Given the description of an element on the screen output the (x, y) to click on. 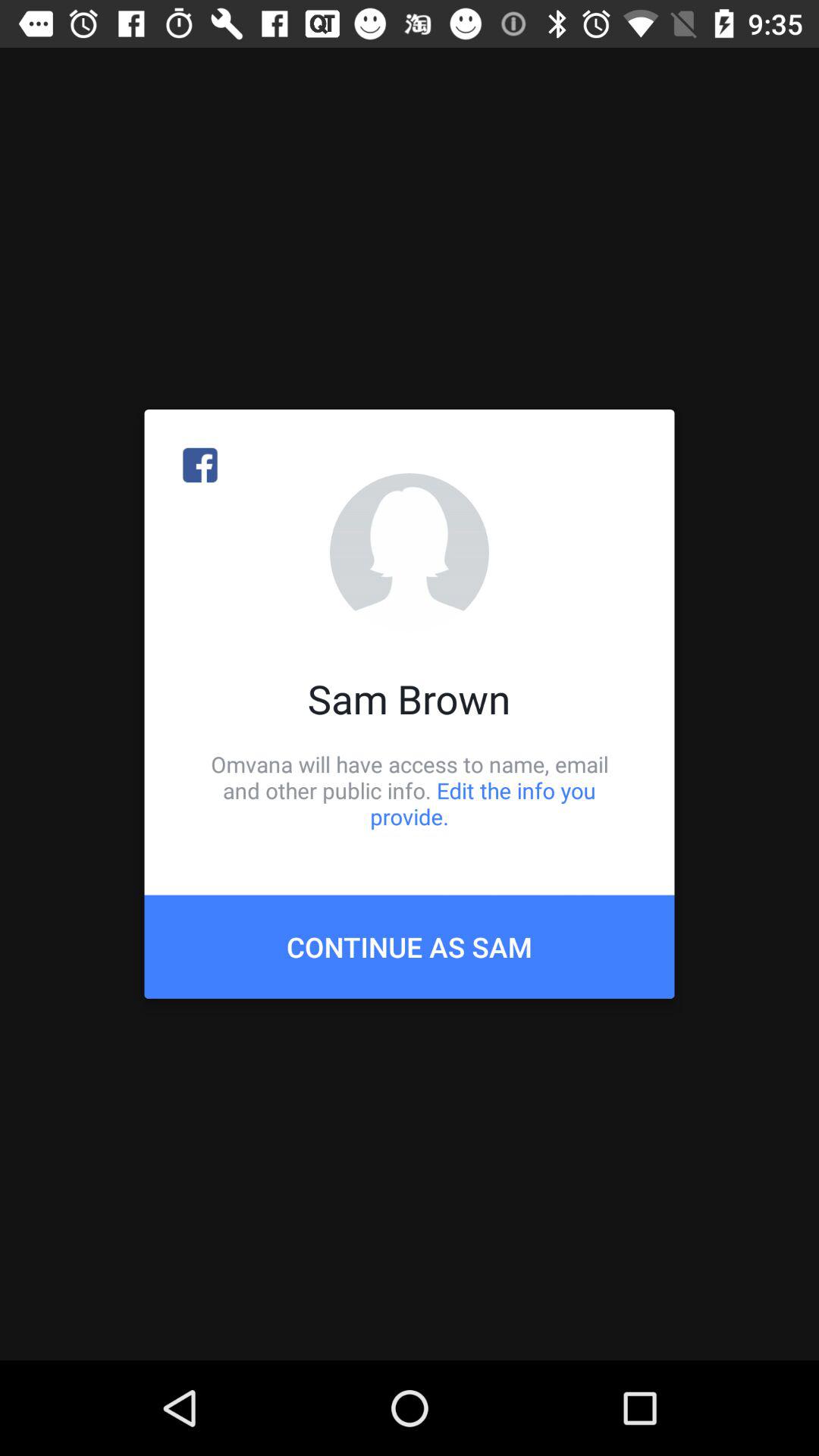
turn off item below sam brown (409, 790)
